Given the description of an element on the screen output the (x, y) to click on. 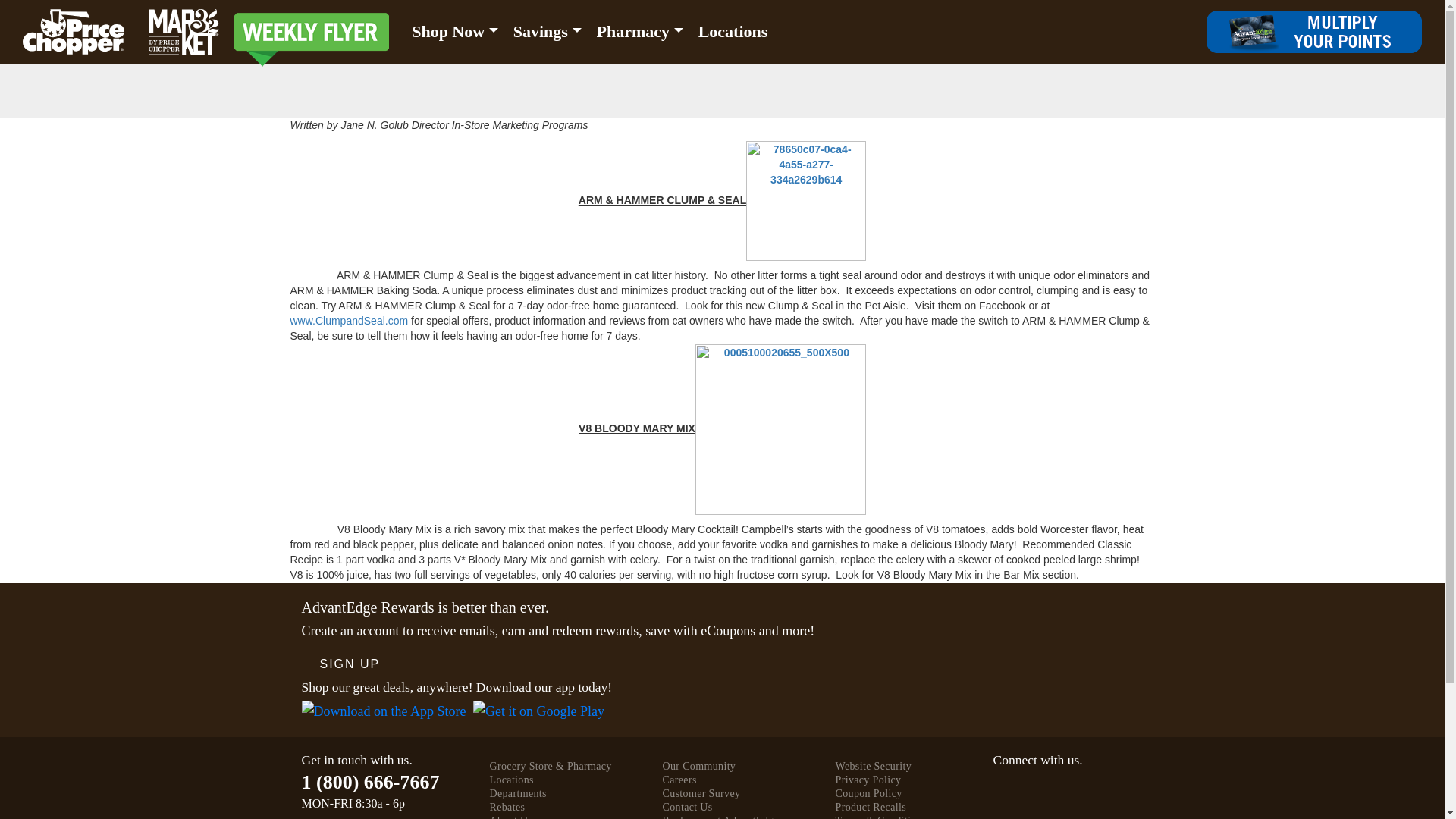
Savings (547, 31)
Departments (518, 793)
Return to our Home Page (121, 31)
Locations (733, 31)
Savings (547, 31)
Shop Now (454, 31)
www.ClumpandSeal.com (348, 320)
Pharmacy (639, 31)
Shop Now (454, 31)
Pharmacy (639, 31)
